Given the description of an element on the screen output the (x, y) to click on. 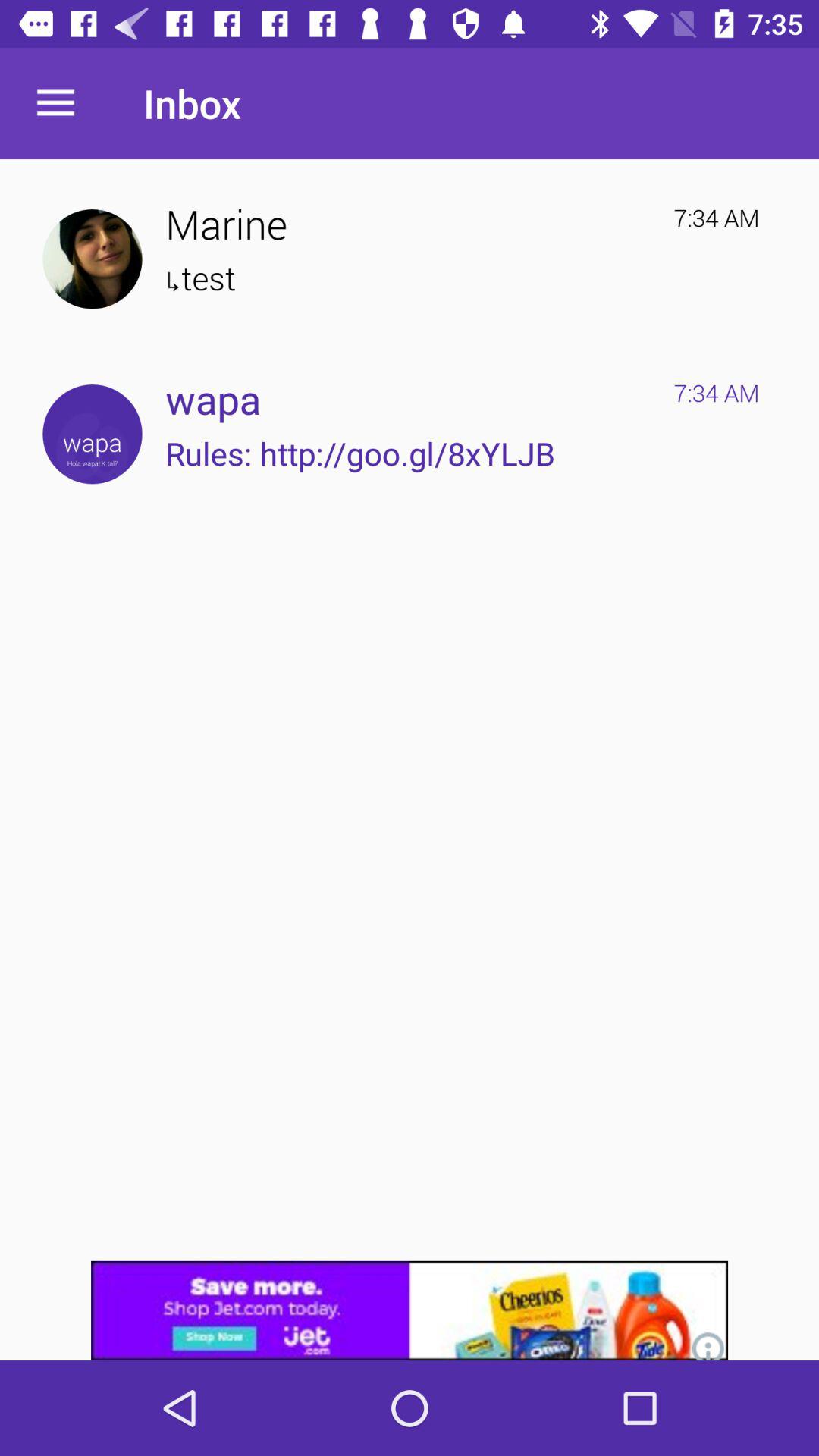
clicking option (92, 434)
